Given the description of an element on the screen output the (x, y) to click on. 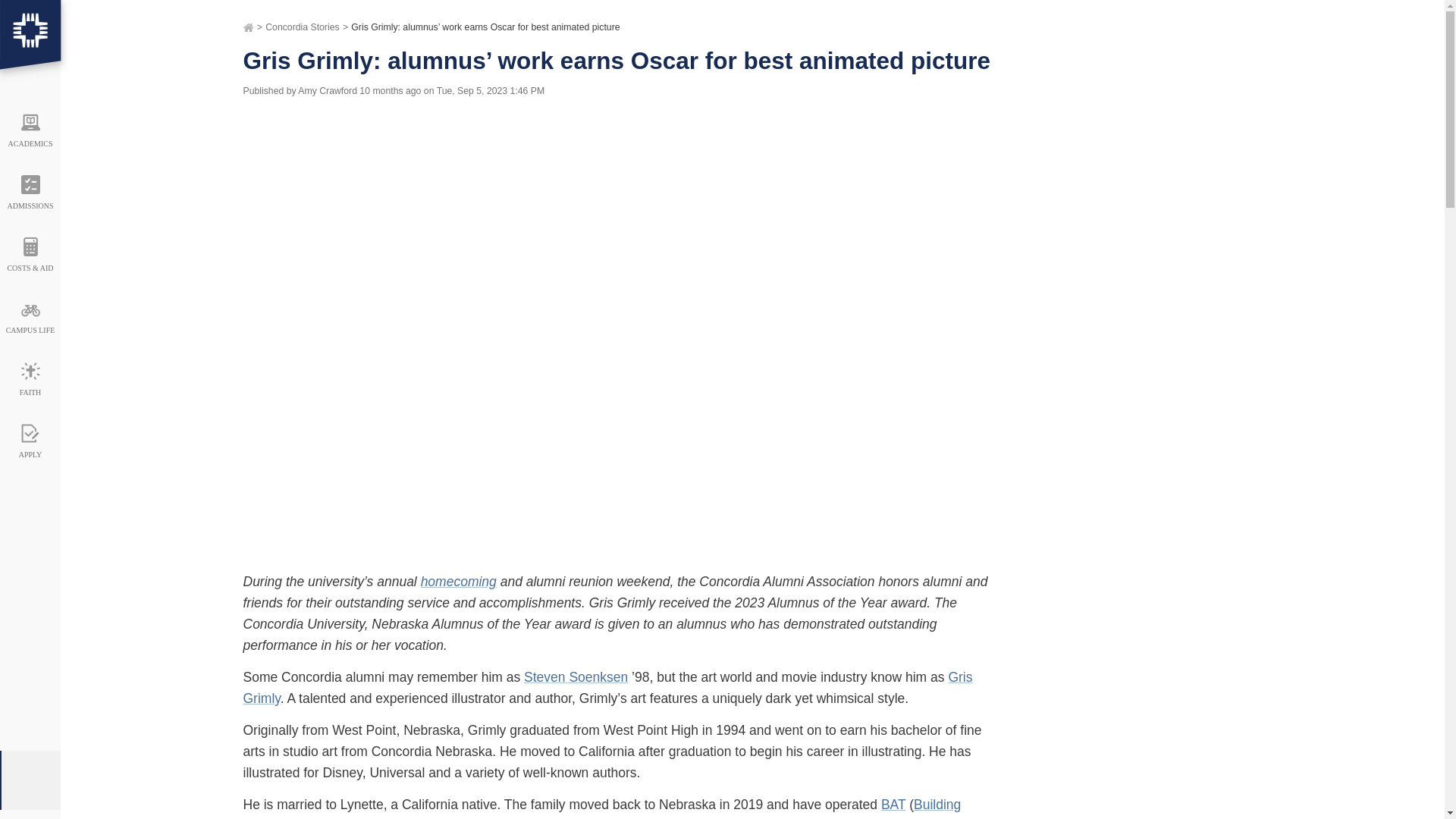
Search (1369, 99)
Concordia University, Nebraska Homepage (30, 43)
Concordia University, Nebraska homepage (30, 43)
APPLY (30, 436)
Search (1369, 99)
Concordia Stories (301, 28)
